Given the description of an element on the screen output the (x, y) to click on. 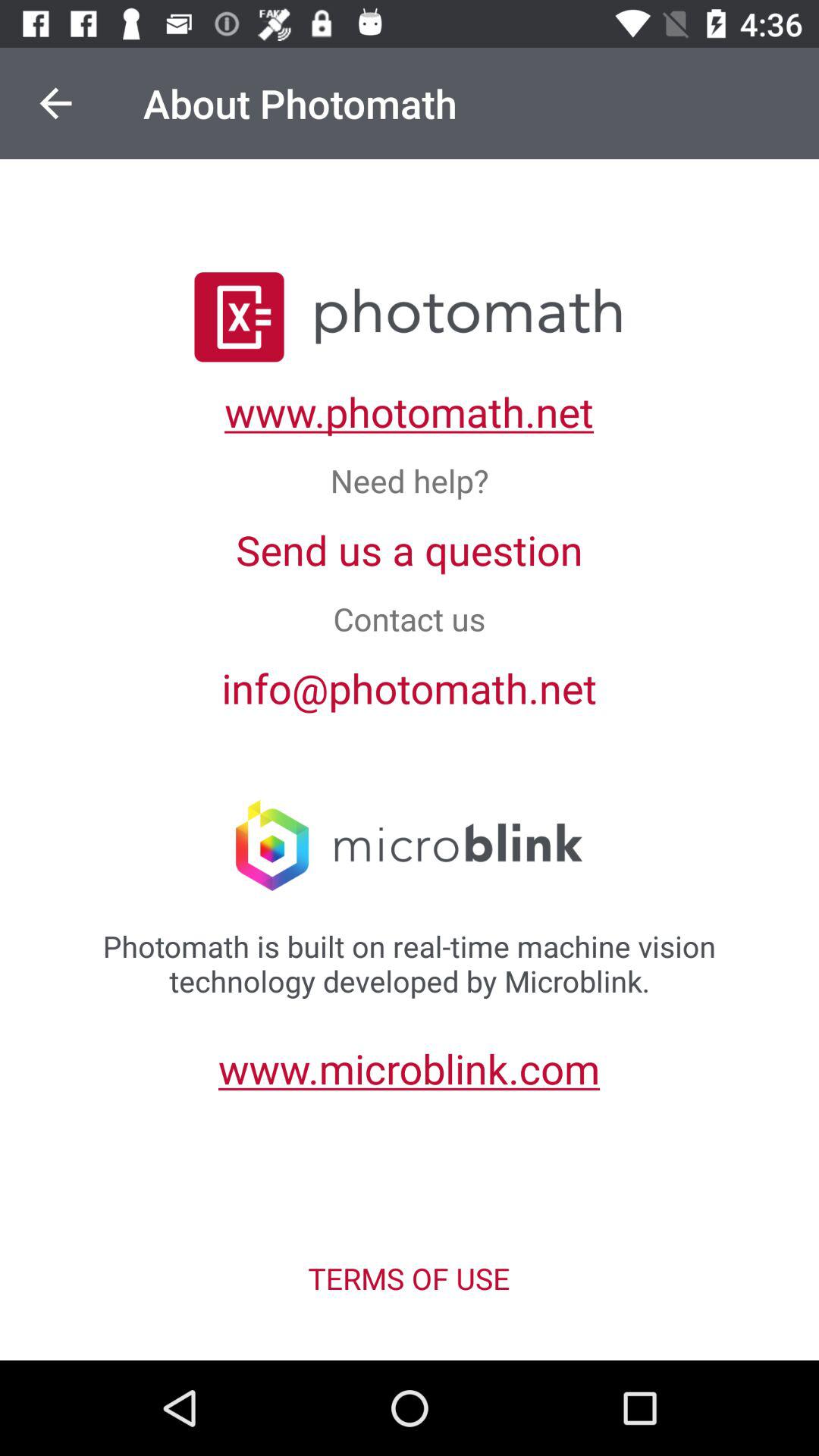
select the send us a item (409, 549)
